Given the description of an element on the screen output the (x, y) to click on. 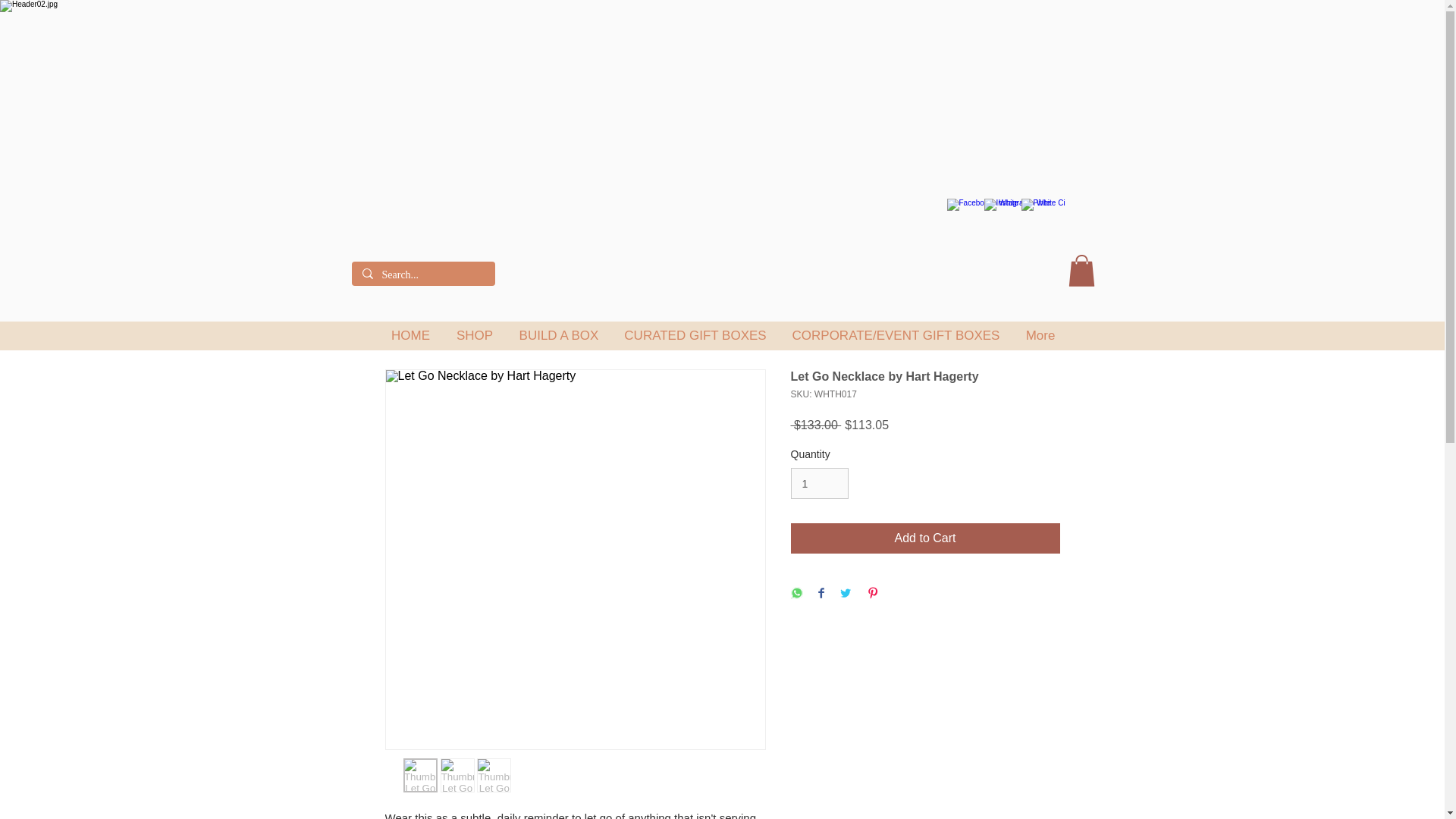
HOME (409, 334)
SHOP (473, 334)
BUILD A BOX (558, 334)
CURATED GIFT BOXES (694, 334)
Add to Cart (924, 538)
1 (818, 482)
